Given the description of an element on the screen output the (x, y) to click on. 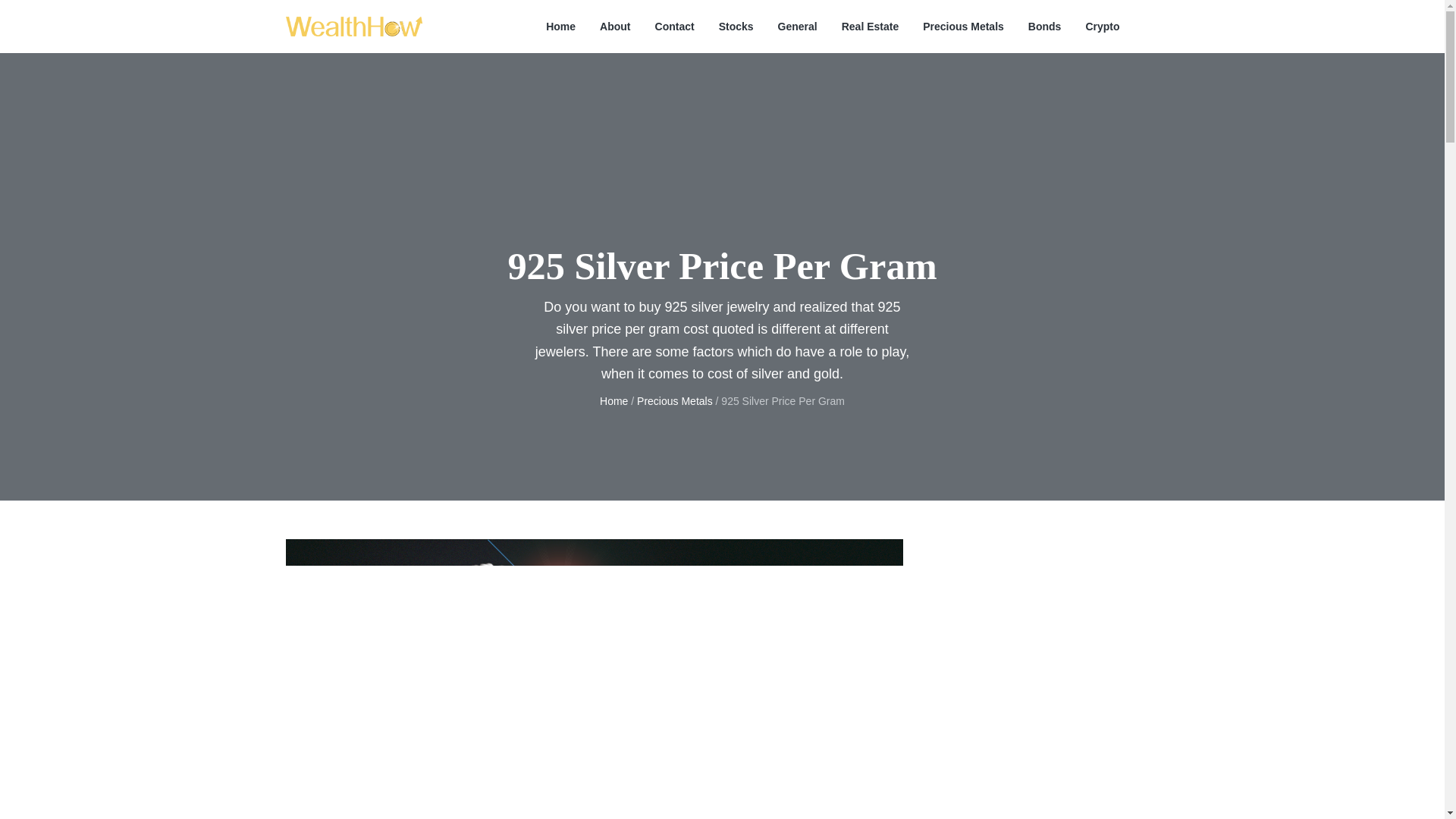
Bonds (1044, 27)
About (614, 27)
Contact (674, 27)
Precious Metals (675, 400)
Precious Metals (963, 27)
Real Estate (869, 27)
Home (560, 27)
Search (60, 18)
Crypto (1101, 27)
